Given the description of an element on the screen output the (x, y) to click on. 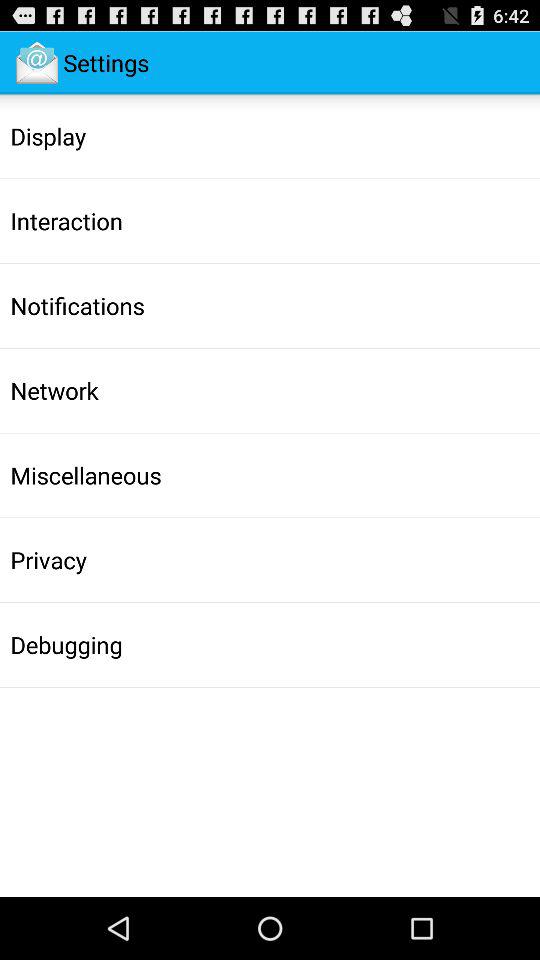
scroll to the miscellaneous icon (85, 475)
